Given the description of an element on the screen output the (x, y) to click on. 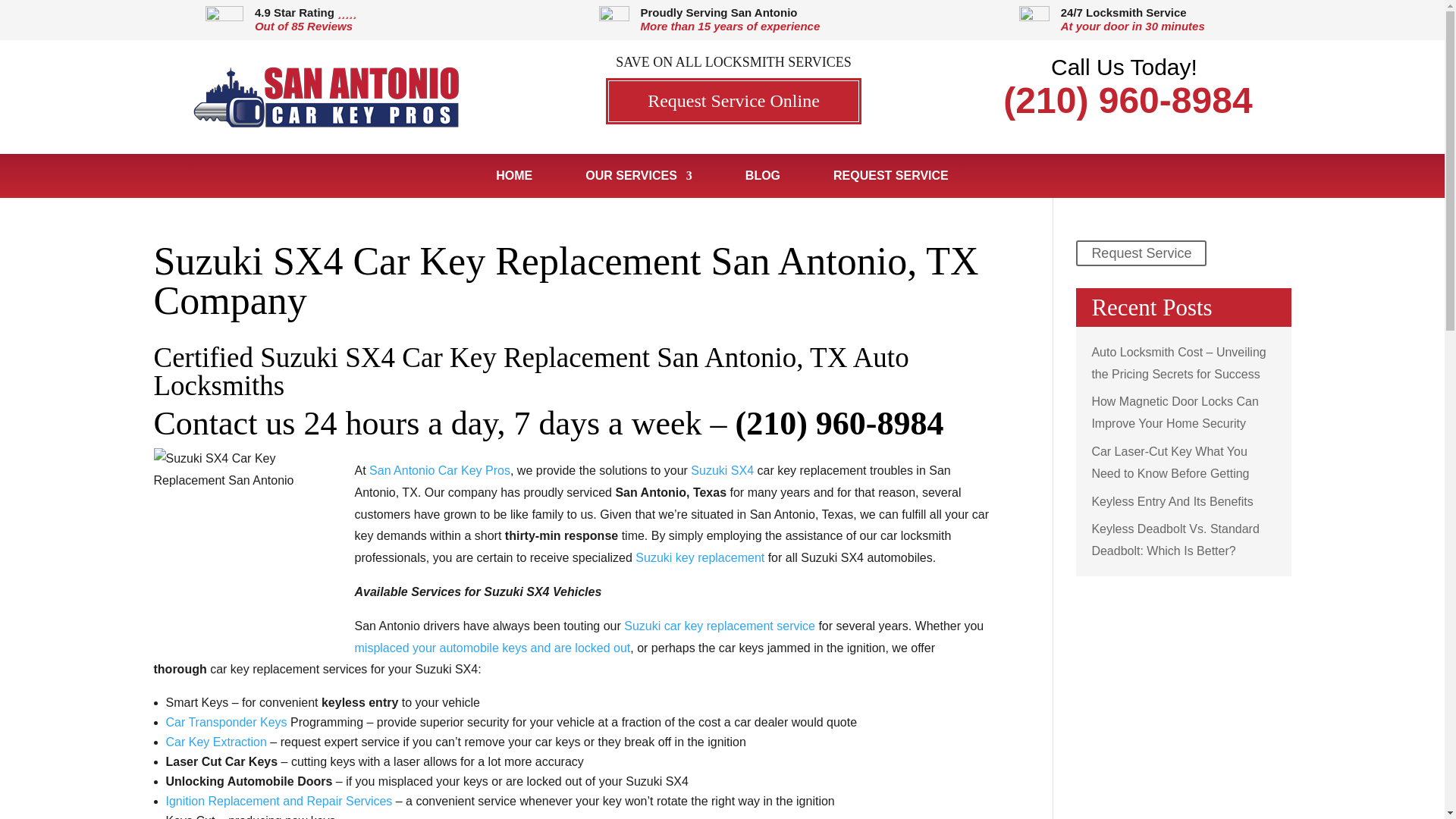
San Antonio Car Key Pros (440, 470)
OUR SERVICES (639, 184)
Ignition Switch Repair and Replacement Assistance (278, 800)
Suzuki car key replacement service (719, 625)
Car Transponder Keys (225, 721)
REQUEST SERVICE (890, 184)
Suzuki key replacement (699, 557)
Suzuki Car Key Replacement Austin, TX (719, 625)
Request Service Online (733, 100)
misplaced your automobile keys and are locked out (492, 647)
